Given the description of an element on the screen output the (x, y) to click on. 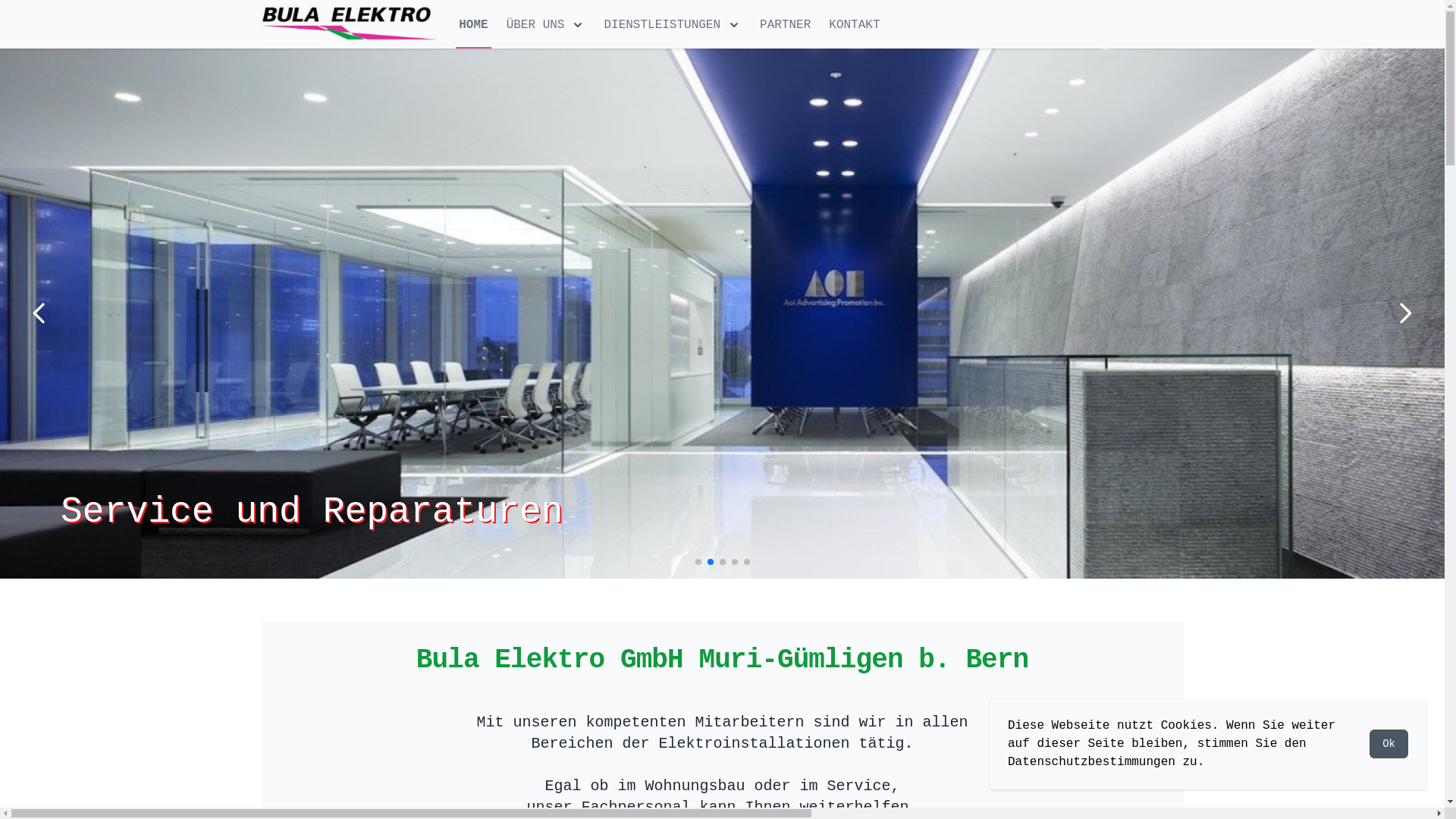
DIENSTLEISTUNGEN Element type: text (672, 24)
PARTNER Element type: text (784, 24)
HOME Element type: text (472, 24)
Ok Element type: text (1388, 743)
KONTAKT Element type: text (853, 24)
